Given the description of an element on the screen output the (x, y) to click on. 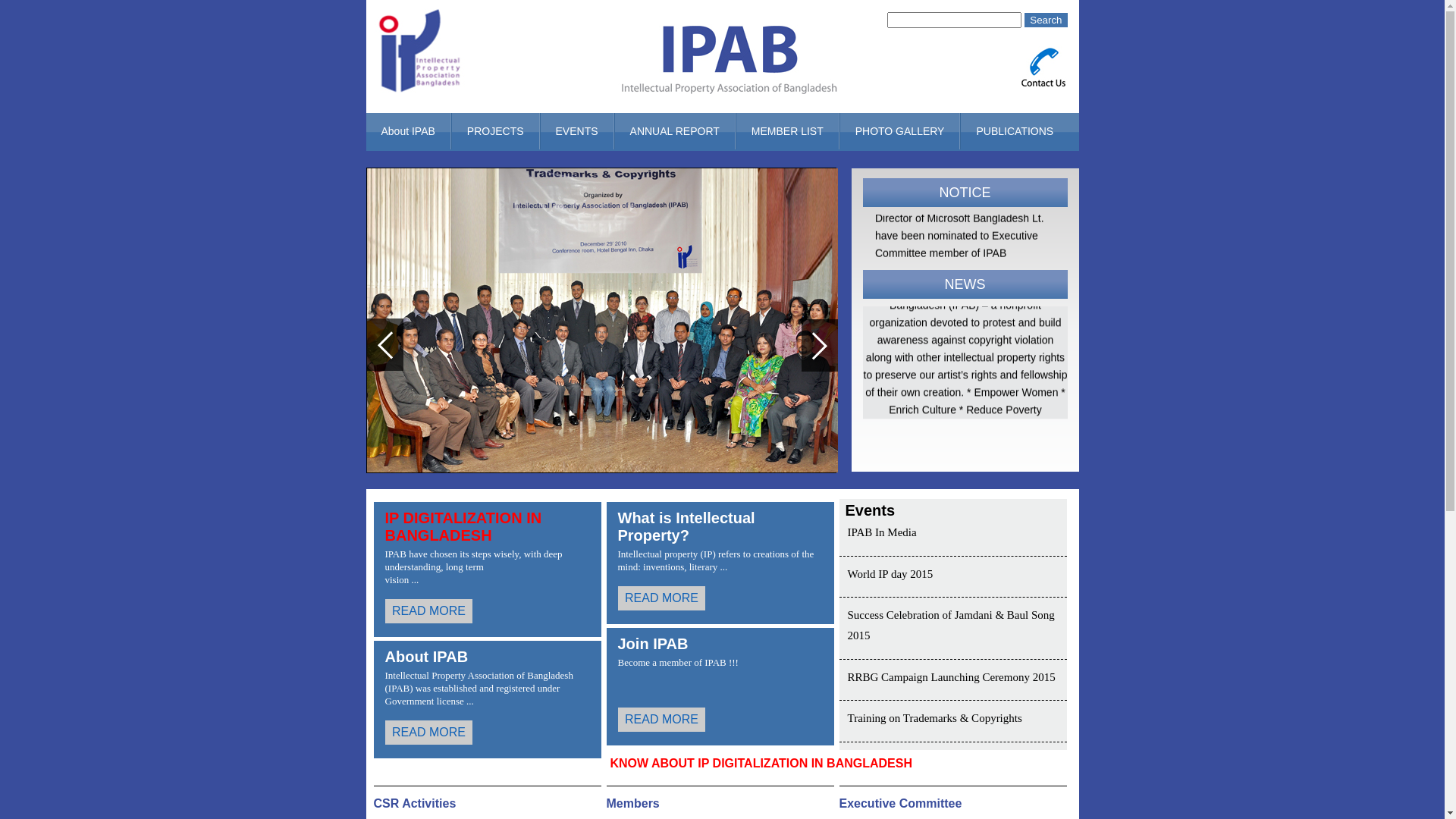
PROJECTS Element type: text (495, 130)
RRBG Campaign Launching Ceremony 2015 Element type: text (951, 676)
About IPAB Element type: text (407, 130)
READ MORE Element type: text (719, 719)
KNOW ABOUT IP DIGITALIZATION IN BANGLADESH Element type: text (756, 770)
Training on Trademarks & Copyrights Element type: text (934, 718)
Success Celebration of Jamdani & Baul Song 2015 Element type: text (950, 624)
World IP day 2015 Element type: text (890, 573)
IPAB In Media Element type: text (881, 532)
PHOTO GALLERY Element type: text (900, 130)
MEMBER LIST Element type: text (787, 130)
Event: The 6th Annual Corporate IP Counsel Forum Element type: text (964, 483)
PUBLICATIONS Element type: text (1014, 130)
EVENTS Element type: text (576, 130)
ANNUAL REPORT Element type: text (674, 130)
READ MORE Element type: text (487, 611)
READ MORE Element type: text (719, 598)
Year Ahead: Copyright Issues Top EU IP Policy In 2014 Element type: text (964, 566)
READ MORE Element type: text (487, 732)
